Given the description of an element on the screen output the (x, y) to click on. 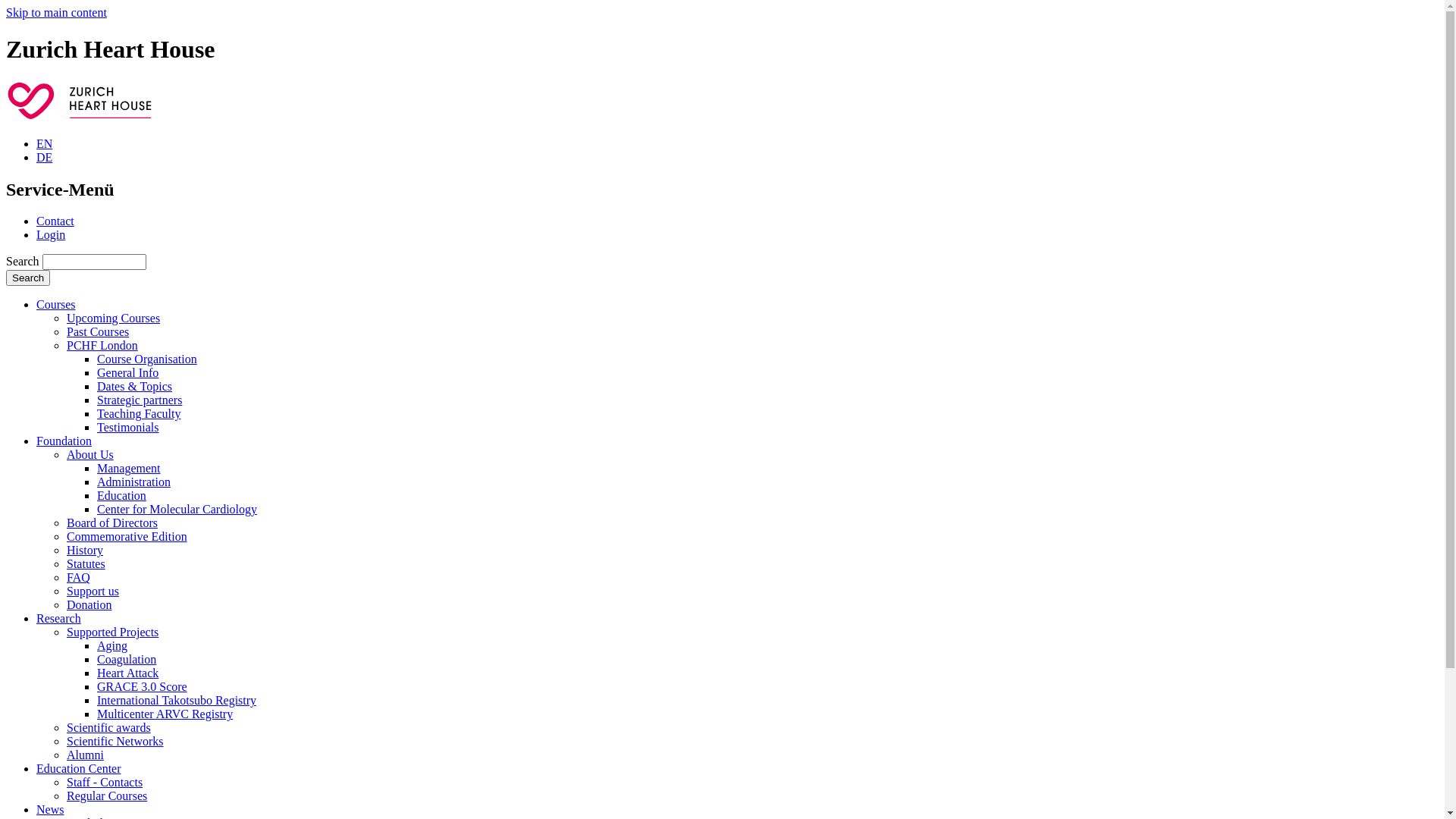
Heart Attack Element type: text (127, 672)
EN Element type: text (44, 143)
Support us Element type: text (92, 590)
Board of Directors Element type: text (111, 522)
GRACE 3.0 Score Element type: text (142, 686)
Scientific awards Element type: text (108, 727)
Login Element type: text (50, 234)
About Us Element type: text (89, 454)
FAQ Element type: text (78, 577)
Aging Element type: text (112, 645)
Center for Molecular Cardiology Element type: text (177, 508)
Regular Courses Element type: text (106, 795)
Education Element type: text (121, 495)
International Takotsubo Registry Element type: text (176, 699)
Testimonials Element type: text (128, 426)
Donation Element type: text (89, 604)
Teaching Faculty Element type: text (138, 413)
DE Element type: text (44, 156)
History Element type: text (84, 549)
Foundation Element type: text (63, 440)
Dates & Topics Element type: text (134, 385)
News Element type: text (49, 809)
Education Center Element type: text (78, 768)
Statutes Element type: text (85, 563)
Research Element type: text (58, 617)
Administration Element type: text (133, 481)
Courses Element type: text (55, 304)
Skip to main content Element type: text (56, 12)
Upcoming Courses Element type: text (113, 317)
PCHF London Element type: text (102, 344)
Scientific Networks Element type: text (114, 740)
Multicenter ARVC Registry Element type: text (164, 713)
Course Organisation Element type: text (147, 358)
Staff - Contacts Element type: text (104, 781)
Enter the terms you wish to search for. Element type: hover (94, 261)
Strategic partners Element type: text (139, 399)
Search Element type: text (28, 277)
Coagulation Element type: text (126, 658)
Contact Element type: text (55, 220)
Startseite Element type: hover (87, 117)
Past Courses Element type: text (97, 331)
Management Element type: text (128, 467)
General Info Element type: text (127, 372)
Commemorative Edition Element type: text (126, 536)
Supported Projects Element type: text (112, 631)
Alumni Element type: text (84, 754)
